Given the description of an element on the screen output the (x, y) to click on. 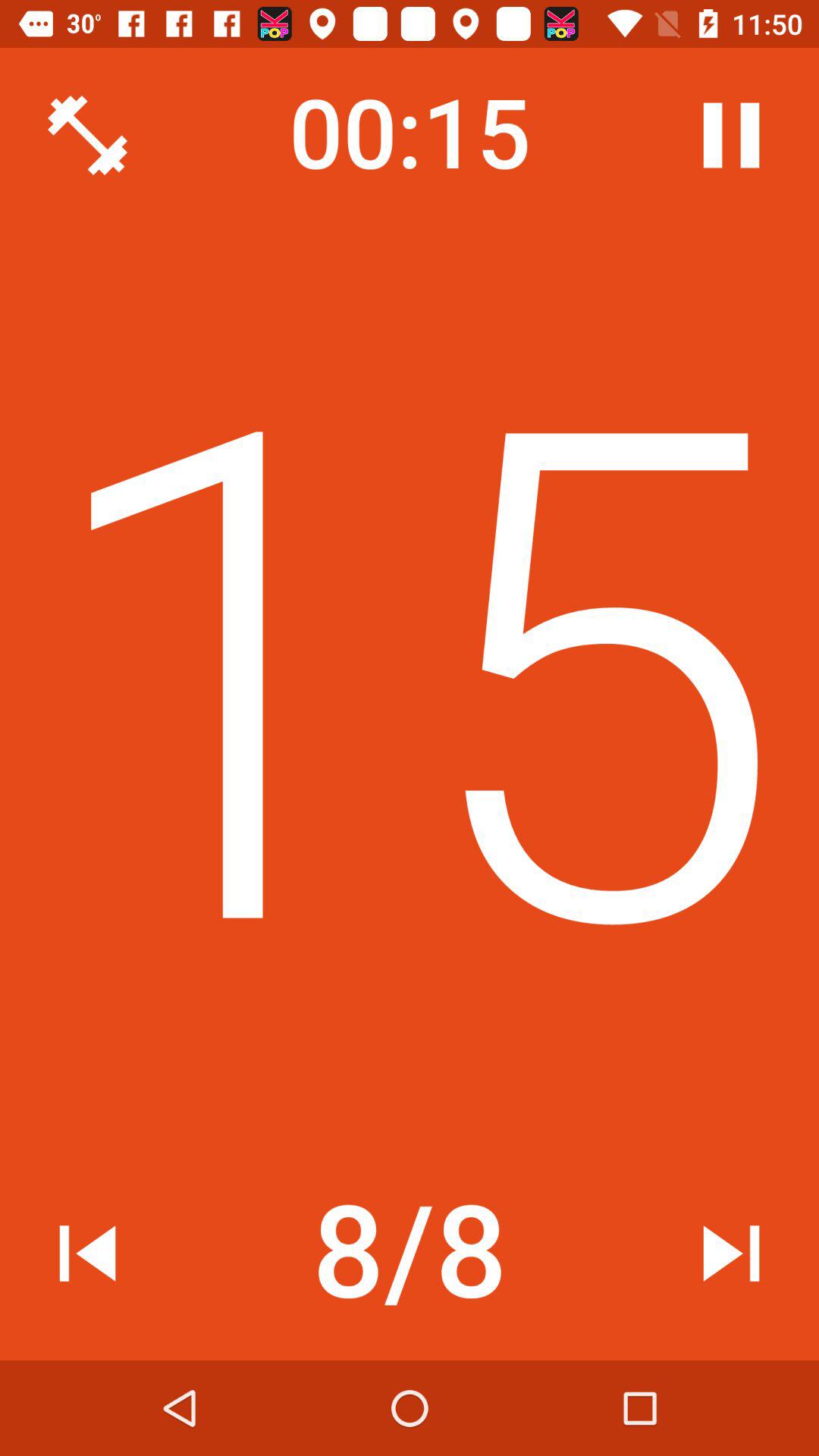
choose icon at the top right corner (731, 135)
